Given the description of an element on the screen output the (x, y) to click on. 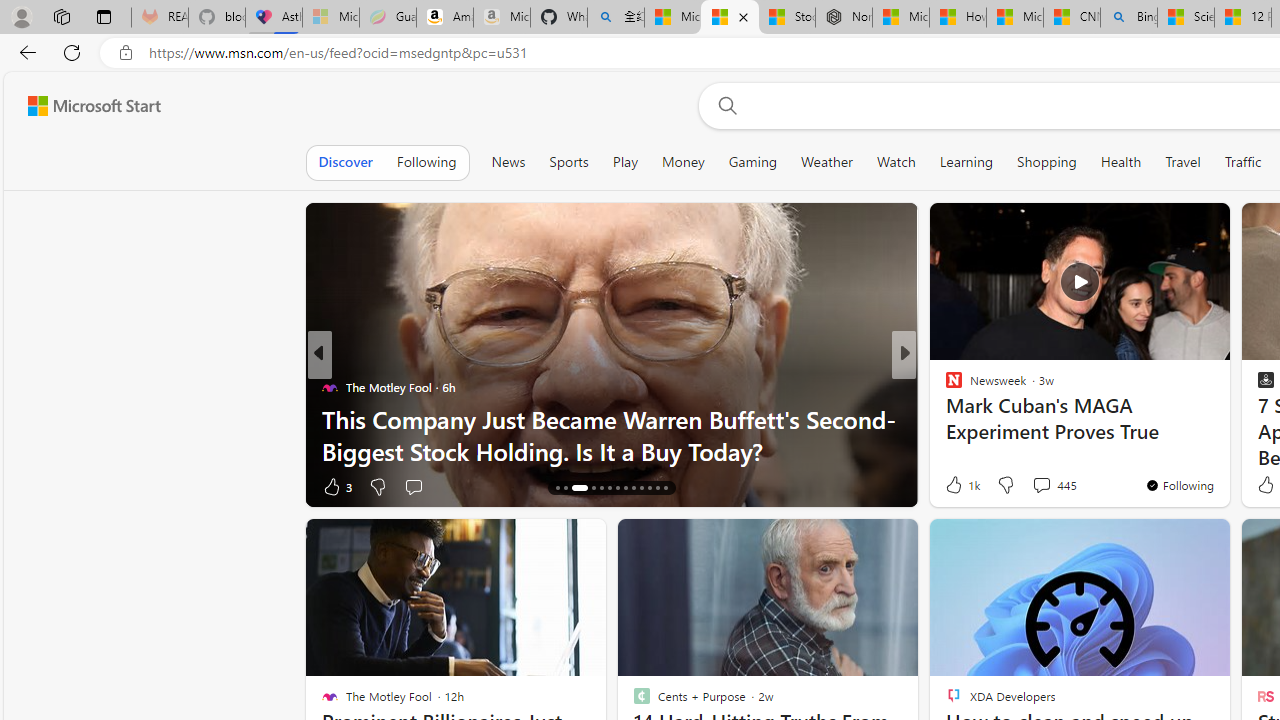
Sports (568, 161)
Shopping (1047, 161)
Learning (966, 162)
View comments 13 Comment (1042, 485)
AutomationID: tab-23 (641, 487)
3 Like (336, 486)
View comments 9 Comment (1048, 486)
Sports (569, 162)
AutomationID: tab-18 (600, 487)
